Given the description of an element on the screen output the (x, y) to click on. 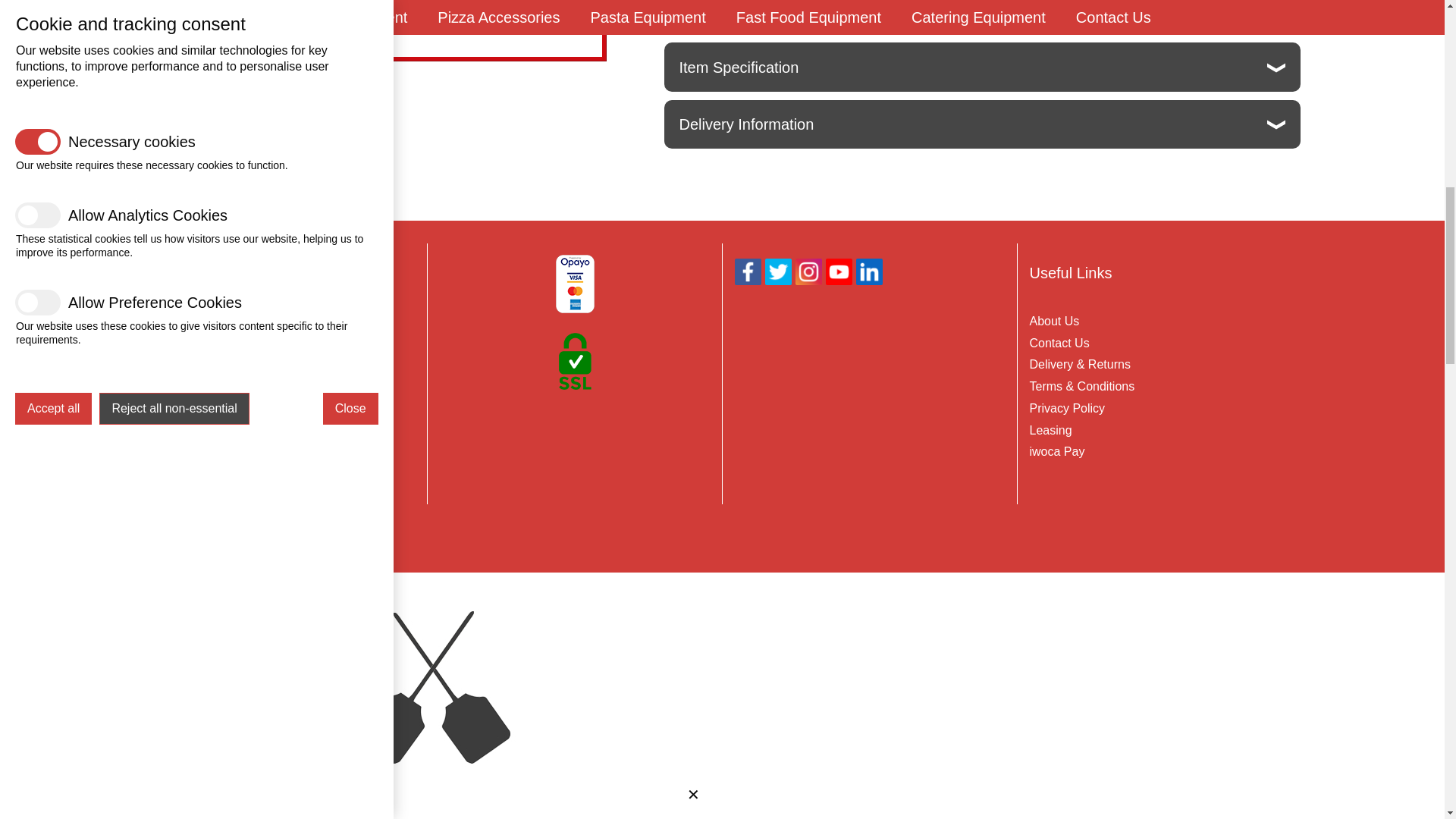
Twitter (777, 271)
LinkedIn (869, 271)
Facebook (746, 271)
YouTube (838, 271)
Instagram (807, 271)
